Given the description of an element on the screen output the (x, y) to click on. 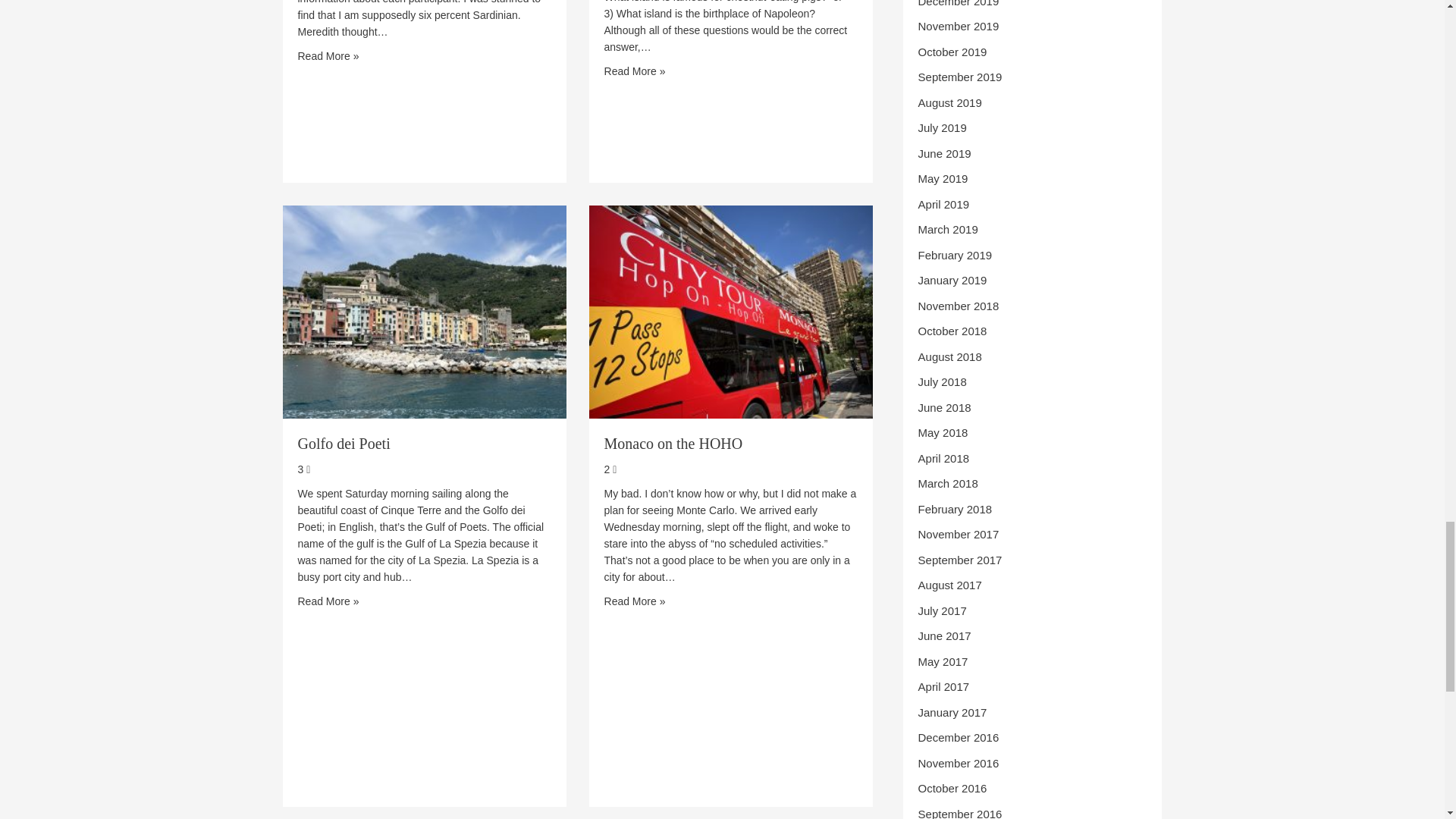
2 (610, 469)
Golfo dei Poeti (343, 443)
Monaco on the HOHO (673, 443)
Back to the Bronze Age (327, 55)
3 (303, 469)
